Given the description of an element on the screen output the (x, y) to click on. 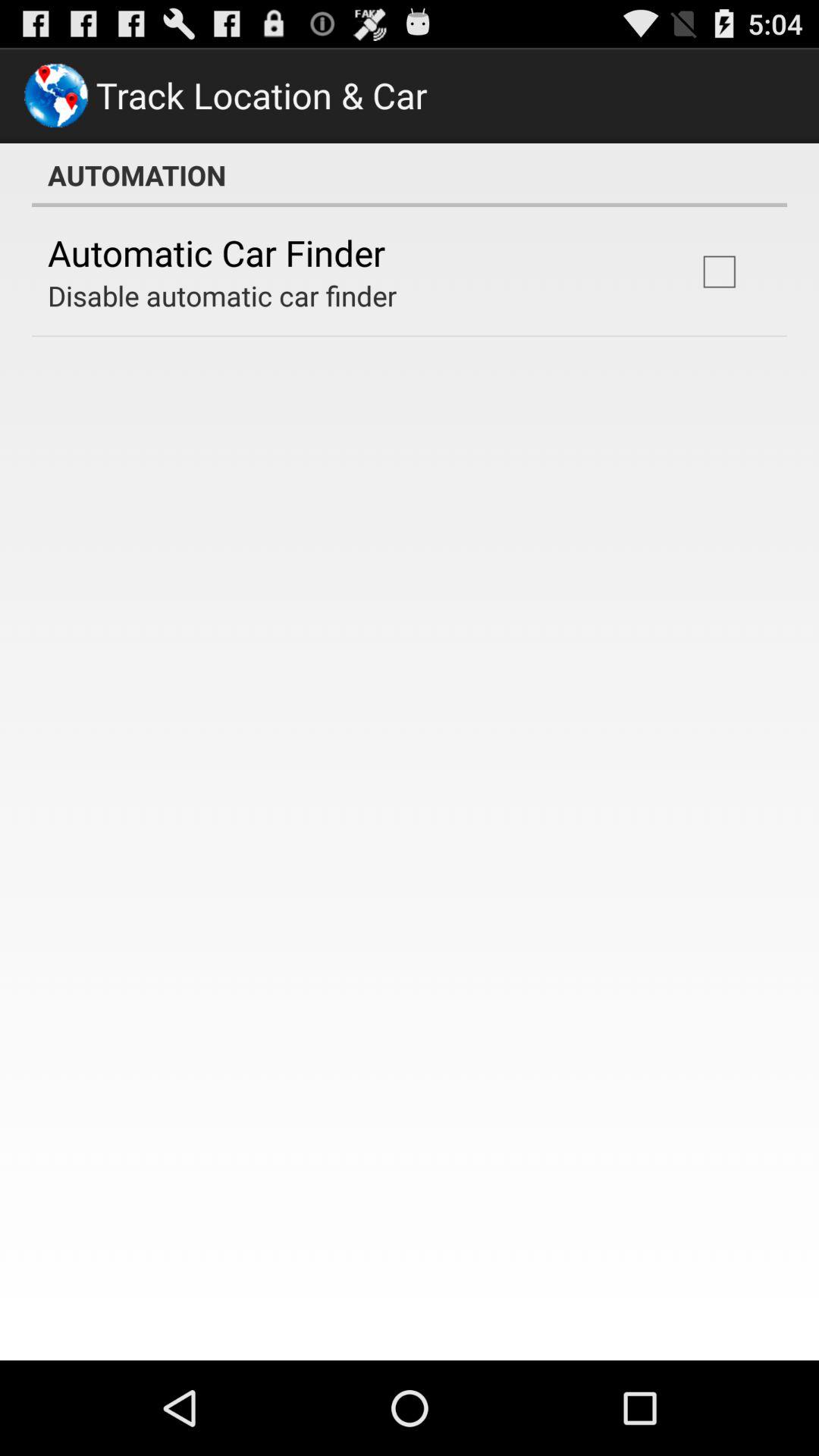
launch the automation at the top (409, 175)
